Given the description of an element on the screen output the (x, y) to click on. 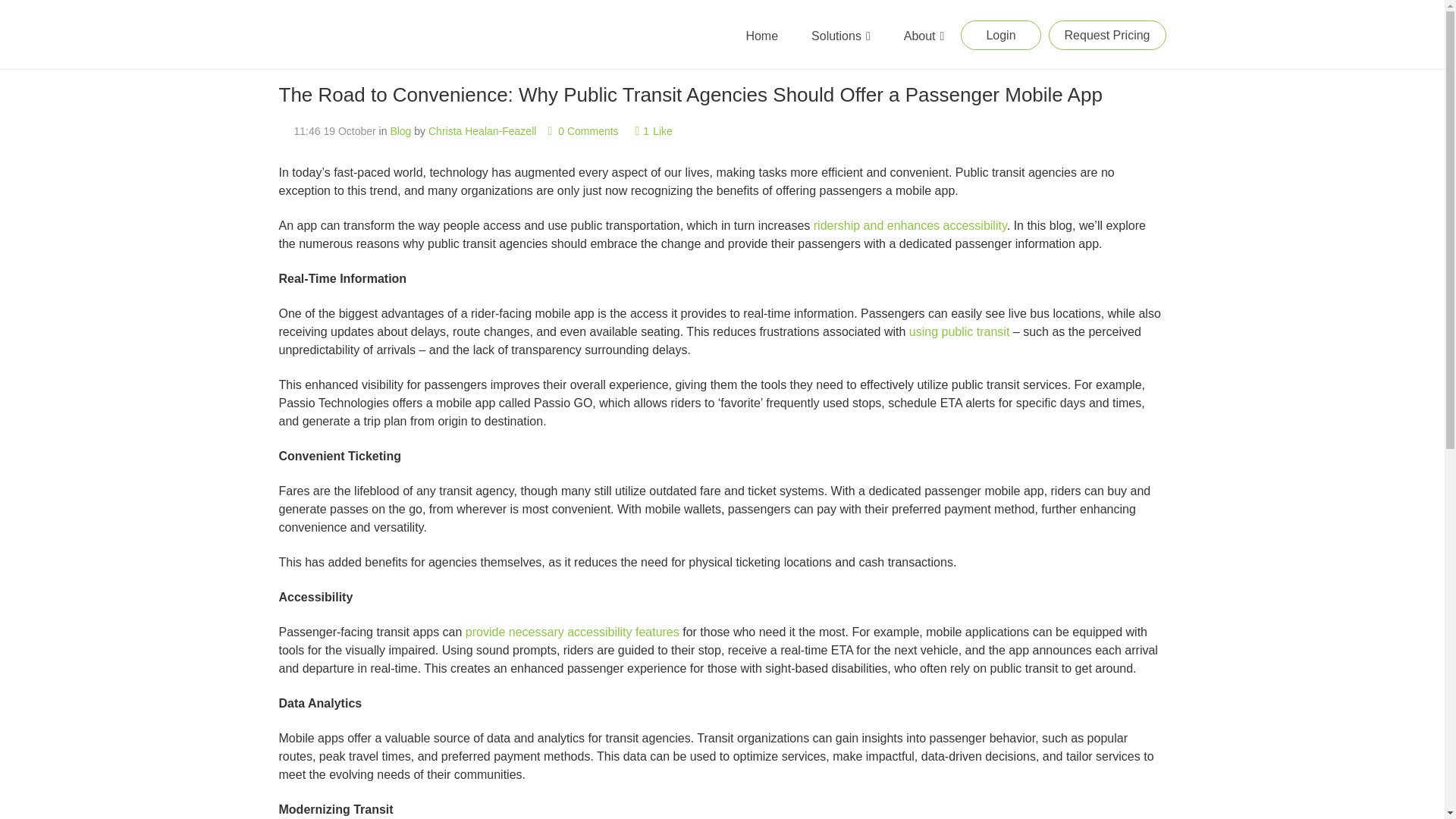
Request Pricing (1106, 35)
About (924, 35)
Solutions (840, 35)
Login (1000, 35)
Home (761, 35)
Like this (652, 131)
